Given the description of an element on the screen output the (x, y) to click on. 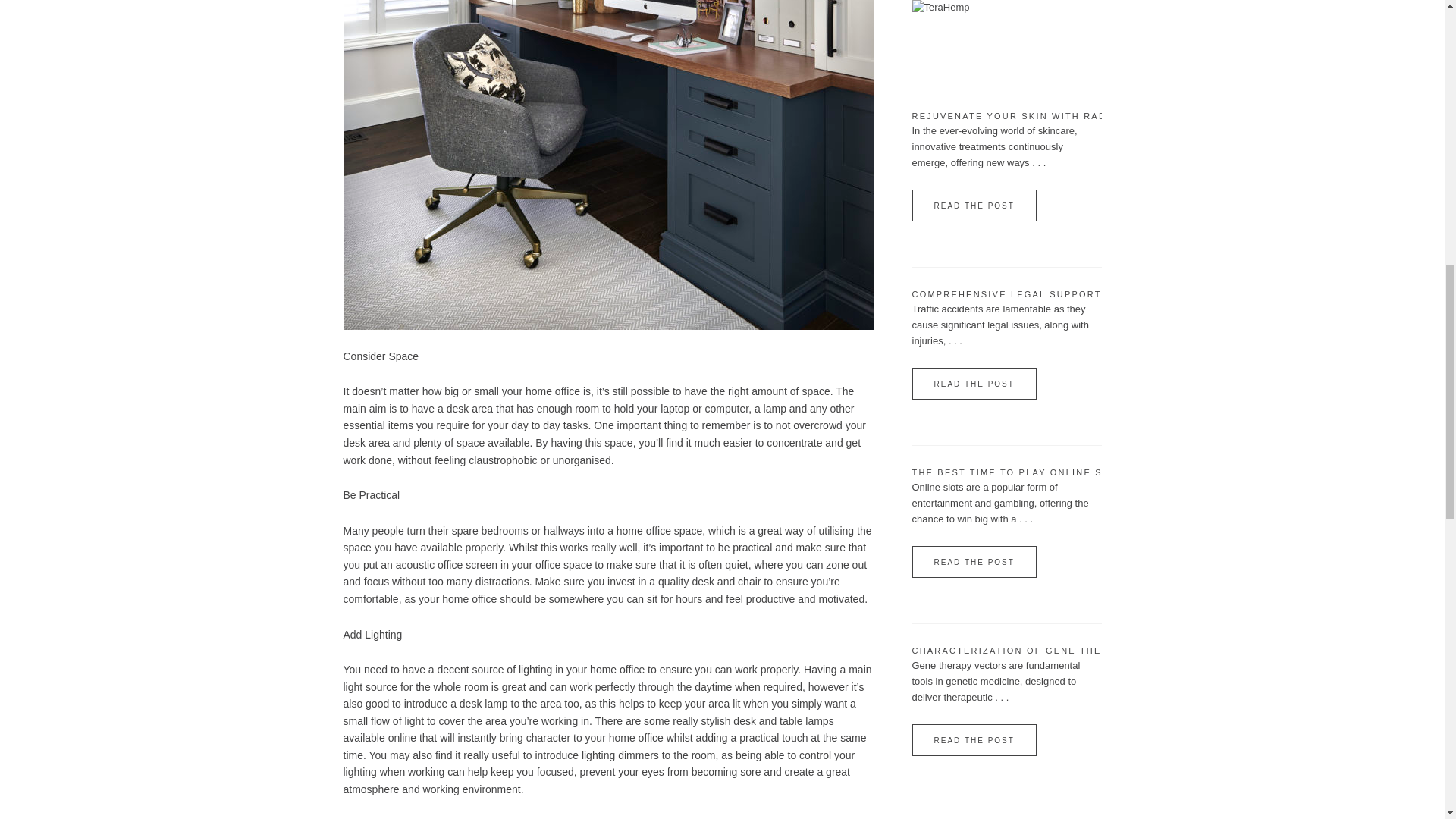
plenty of space (448, 442)
put an acoustic office screen (429, 564)
TeraHemp (940, 7)
dimmers (638, 755)
REJUVENATE YOUR SKIN WITH RADIOFREQUENCY FACIALS (1072, 115)
READ THE POST (973, 205)
a desk lamp (477, 703)
